Given the description of an element on the screen output the (x, y) to click on. 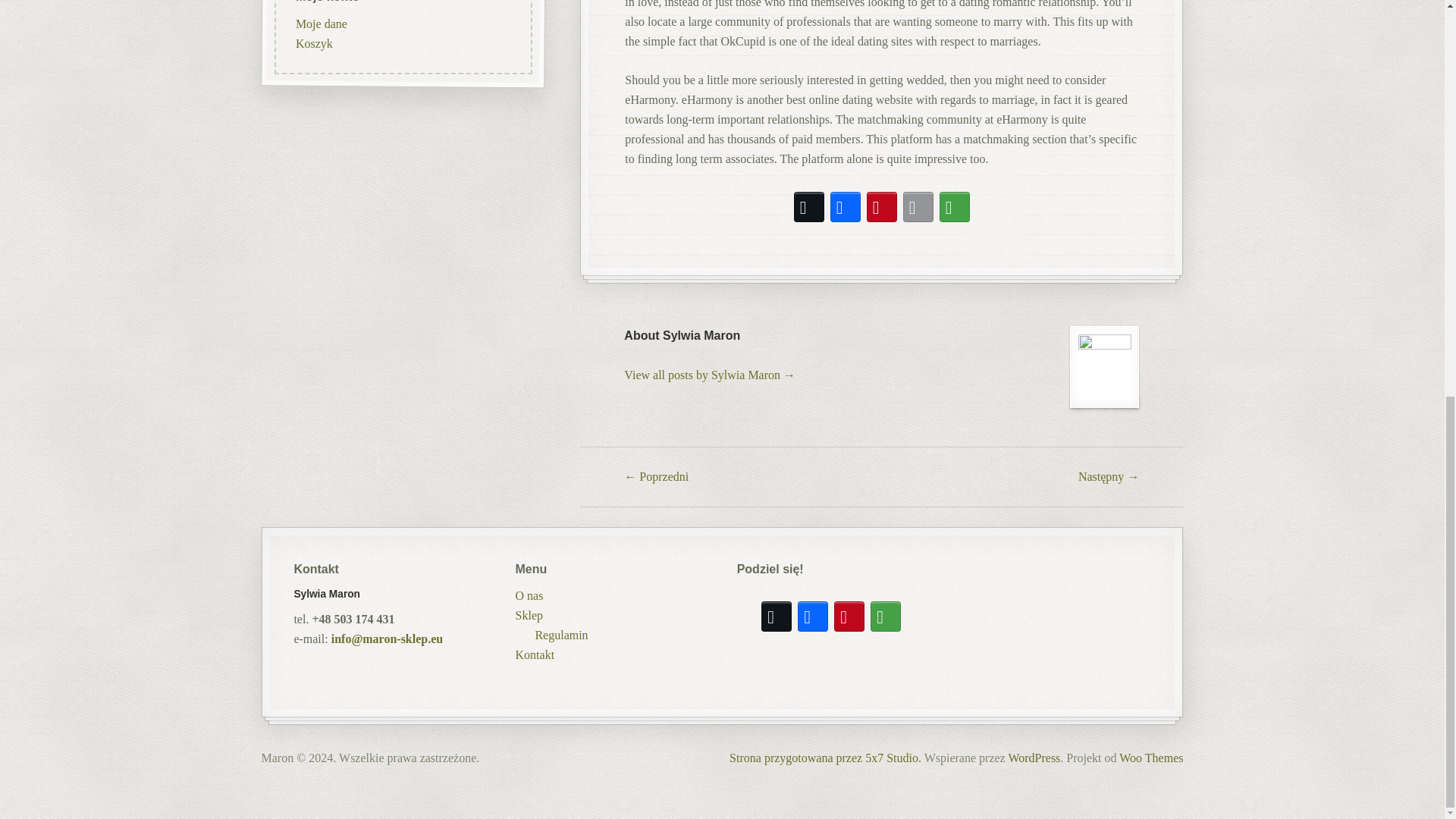
Koszyk (313, 147)
WordPress (1033, 757)
O nas (529, 595)
upcykling (319, 4)
Strona przygotowana przez 5x7 Studio. (825, 757)
Moje dane (320, 128)
Regulamin (561, 634)
Sklep (529, 615)
Kontakt (534, 654)
